Given the description of an element on the screen output the (x, y) to click on. 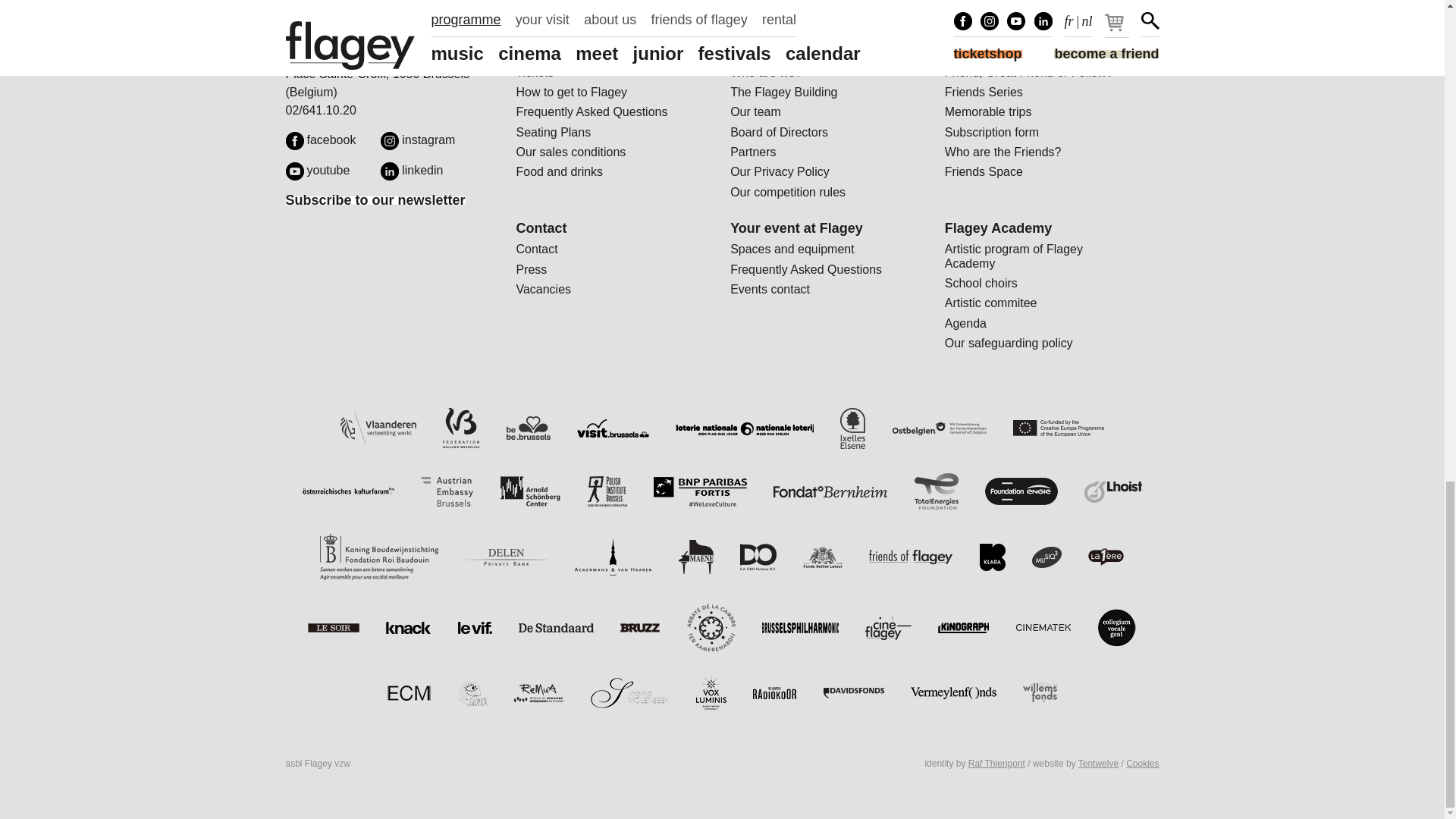
Arnold Schonberg Center (529, 490)
Austrian Embassy in Brussels (446, 490)
Foundation Engie (1021, 491)
Brussels-Capital Region (528, 428)
Lhoist (1112, 491)
TotalEnergies Foundation (936, 491)
Polish Institute Brussels (607, 490)
Vlaanderen verbeelding werkt (378, 428)
Ostbelgien (939, 428)
visit.brussels (612, 428)
Loterie nationale - Nationale loterij (744, 428)
Austrian Cultural Forum in Brussels (348, 491)
BNP Paribas - Fortis (699, 491)
Creative European Programme (1058, 428)
bernheim (829, 491)
